Given the description of an element on the screen output the (x, y) to click on. 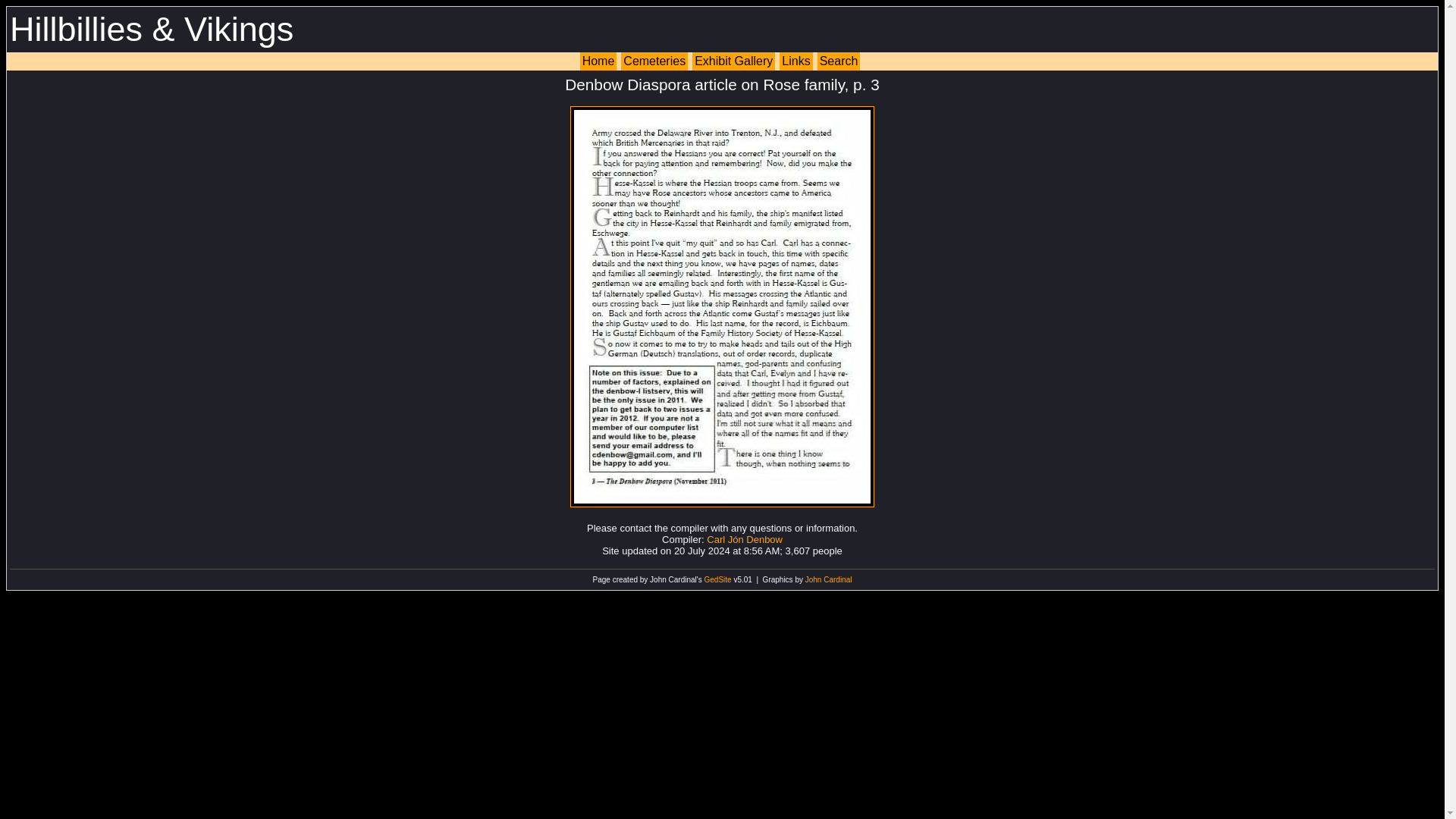
Cemeteries (654, 61)
Exhibit Gallery (733, 61)
Links (795, 61)
GedSite (718, 579)
John Cardinal (828, 579)
Search (838, 61)
Home (598, 61)
